Given the description of an element on the screen output the (x, y) to click on. 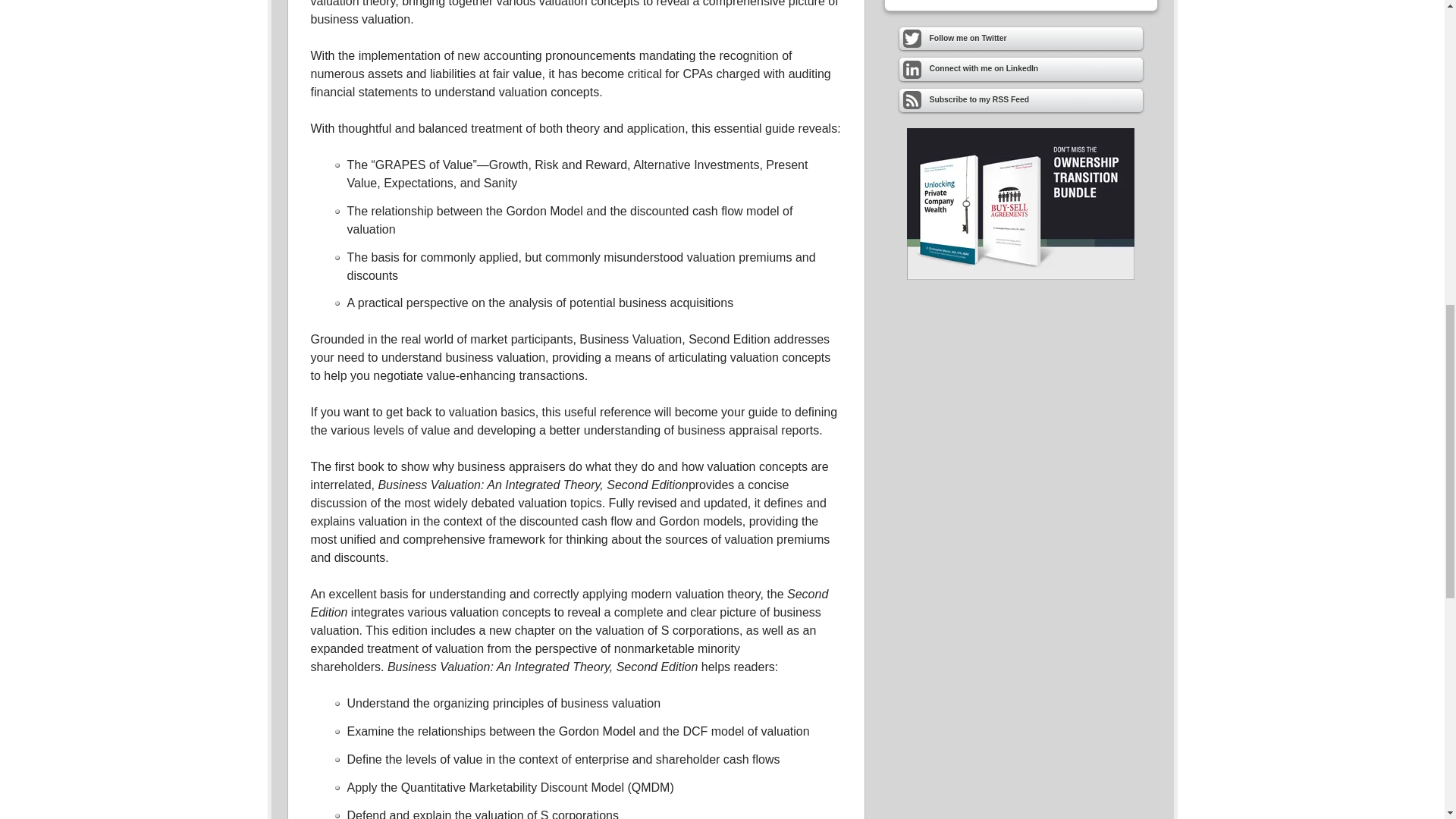
Subscribe to my RSS Feed (1020, 100)
Connect with me on LinkedIn (1020, 69)
Follow me on Twitter (1020, 38)
